Given the description of an element on the screen output the (x, y) to click on. 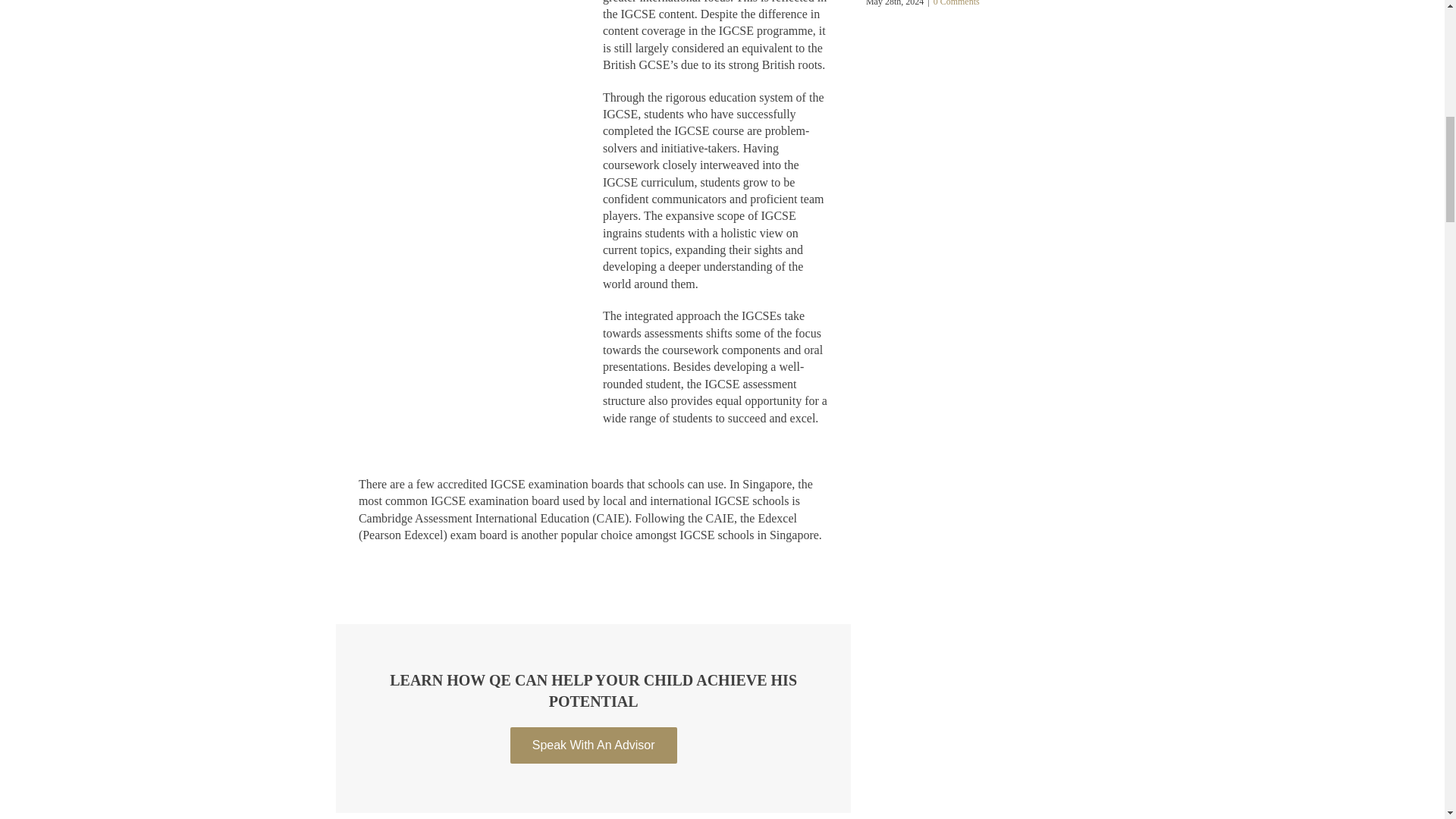
igcse students (470, 52)
Speak With An Advisor (594, 745)
